Given the description of an element on the screen output the (x, y) to click on. 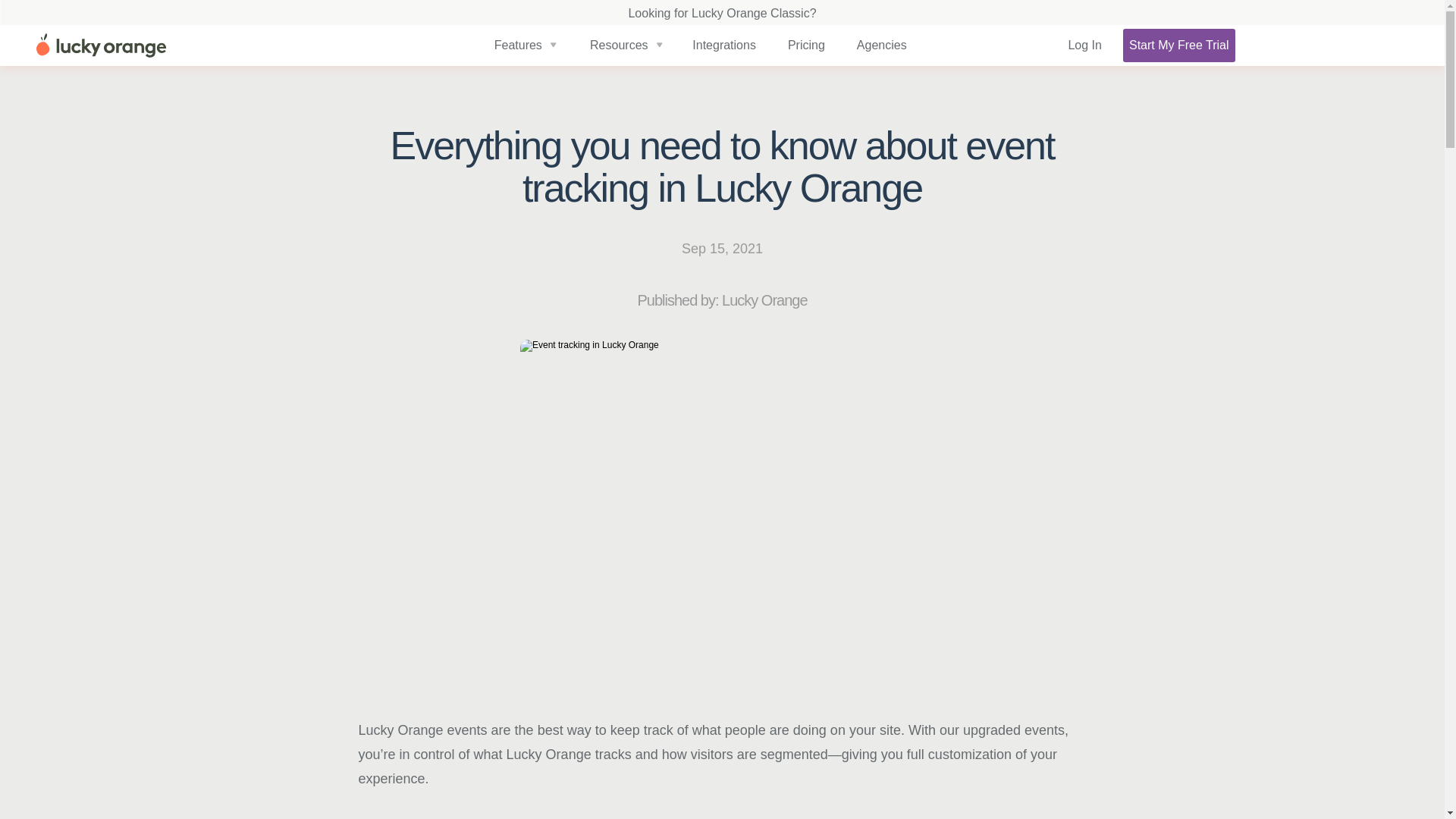
Integrations (723, 45)
Pricing (806, 45)
Agencies (881, 45)
Looking for Lucky Orange Classic? (721, 12)
Log In (1083, 45)
Start My Free Trial (1178, 45)
